Given the description of an element on the screen output the (x, y) to click on. 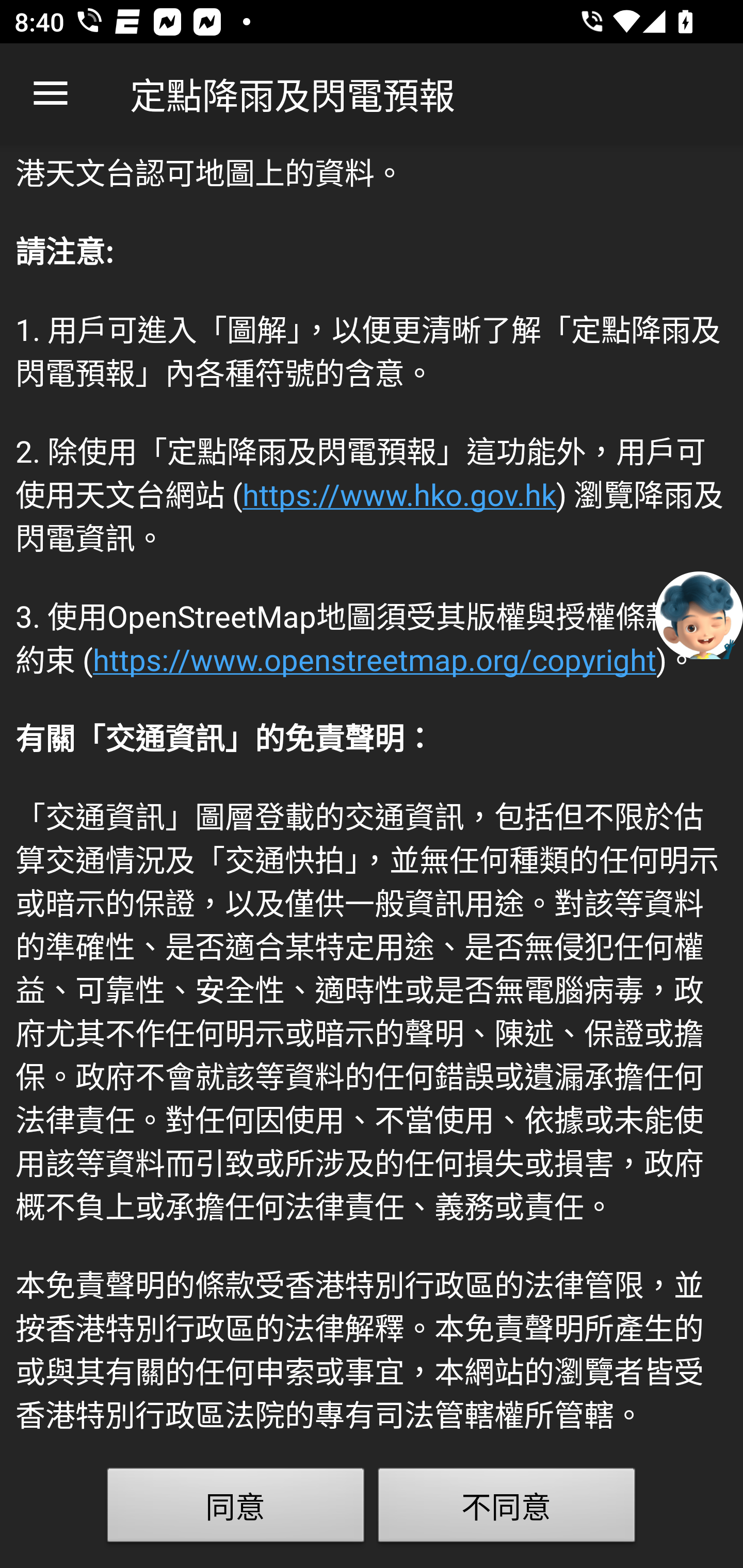
向上瀏覽 (50, 93)
聊天機械人 (699, 614)
同意 (235, 1509)
不同意 (506, 1509)
